Given the description of an element on the screen output the (x, y) to click on. 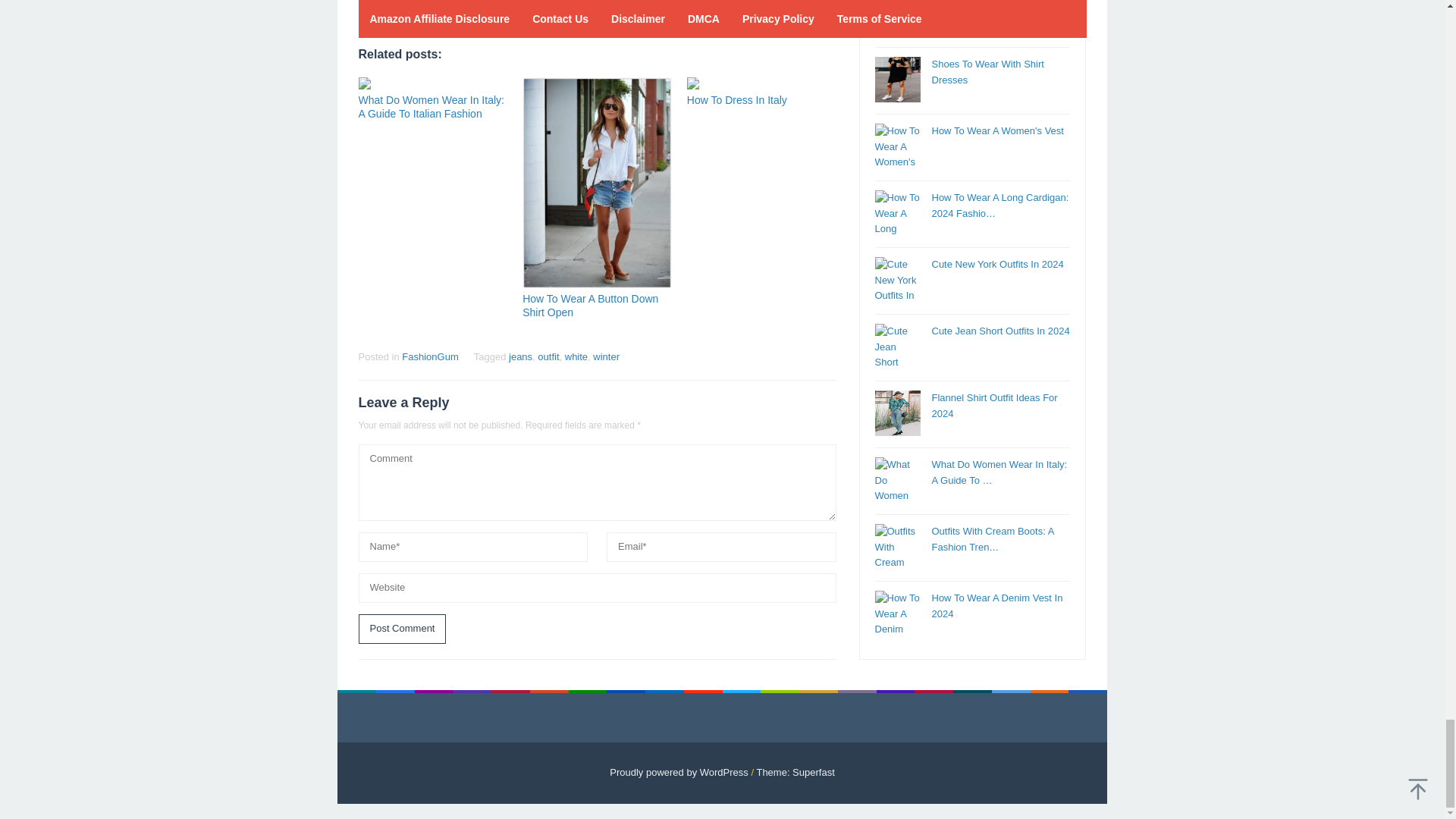
jeans (520, 356)
Whatsapp (475, 9)
How To Dress In Italy (737, 100)
Post Comment (401, 628)
Pin this (421, 9)
Permalink to: How To Wear A Button Down Shirt Open (590, 305)
Post Comment (401, 628)
What Do Women Wear In Italy: A Guide To Italian Fashion (430, 106)
white (576, 356)
Tweet this (396, 9)
FashionGum (429, 356)
How To Wear A Button Down Shirt Open (590, 305)
Share this (369, 9)
